Given the description of an element on the screen output the (x, y) to click on. 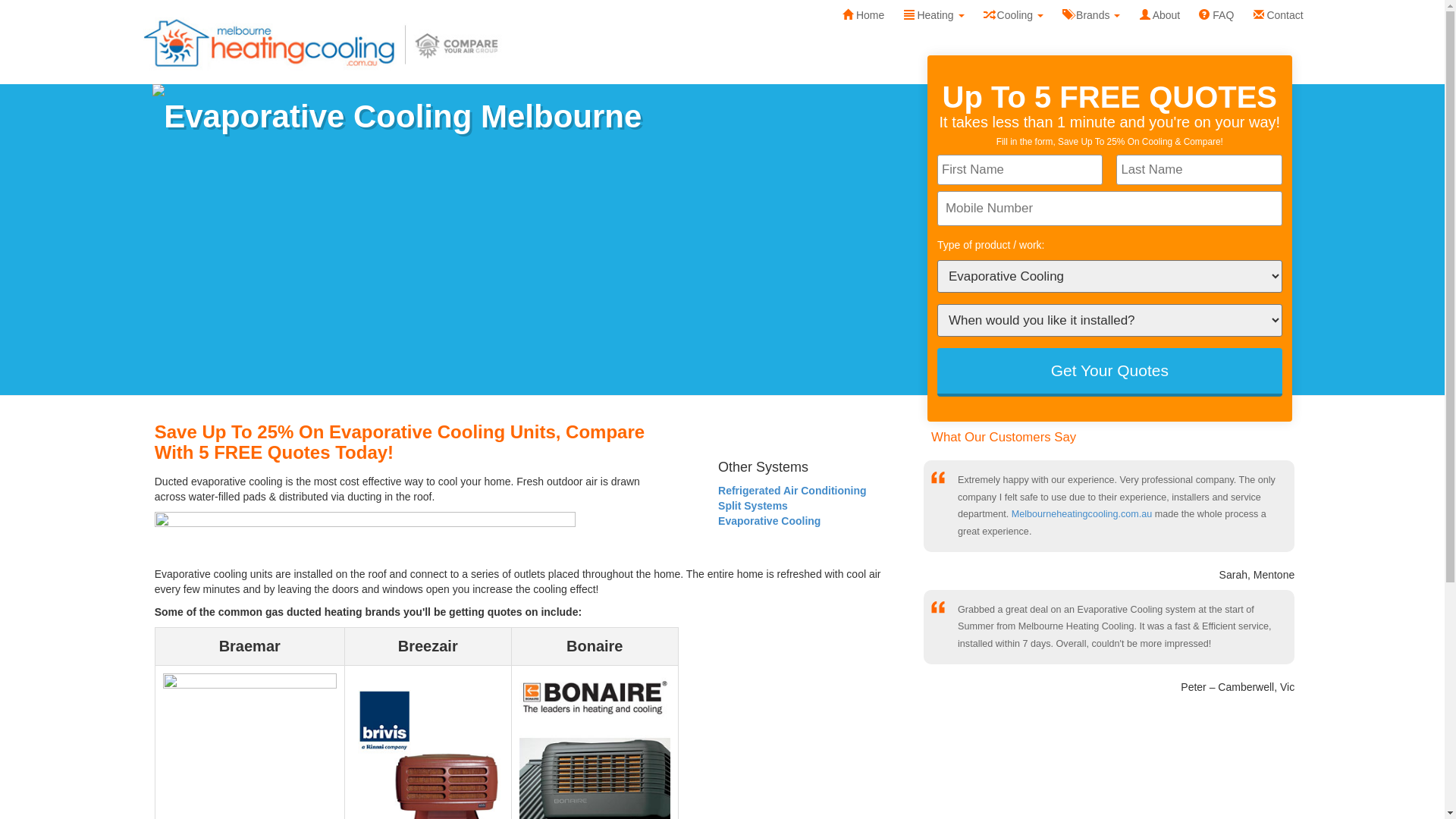
Get Your Quotes Element type: text (1109, 372)
Cooling Element type: text (1012, 15)
About Element type: text (1159, 15)
Split Systems Element type: text (752, 505)
FAQ Element type: text (1216, 15)
Heating Element type: text (933, 15)
Home Element type: text (862, 15)
Melbourneheatingcooling.com.au Element type: text (1081, 513)
Refrigerated Air Conditioning Element type: text (792, 490)
Brands Element type: text (1091, 15)
Evaporative Cooling Element type: text (769, 520)
Contact Element type: text (1277, 15)
